Given the description of an element on the screen output the (x, y) to click on. 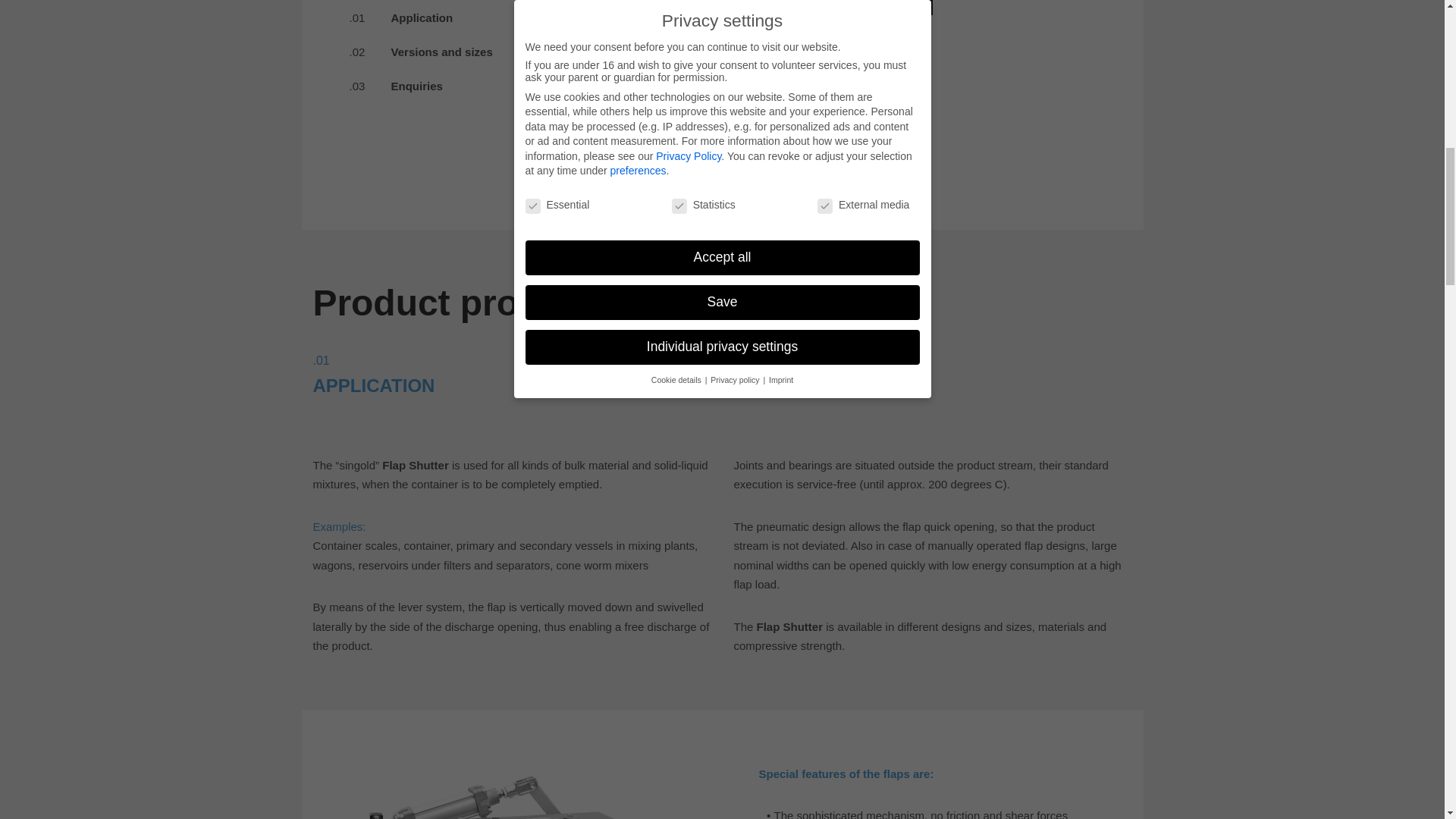
Versions and sizes (442, 51)
Application (421, 17)
Enquiries (416, 85)
1 (785, 2)
singold-flap-shutter-application (520, 791)
